Given the description of an element on the screen output the (x, y) to click on. 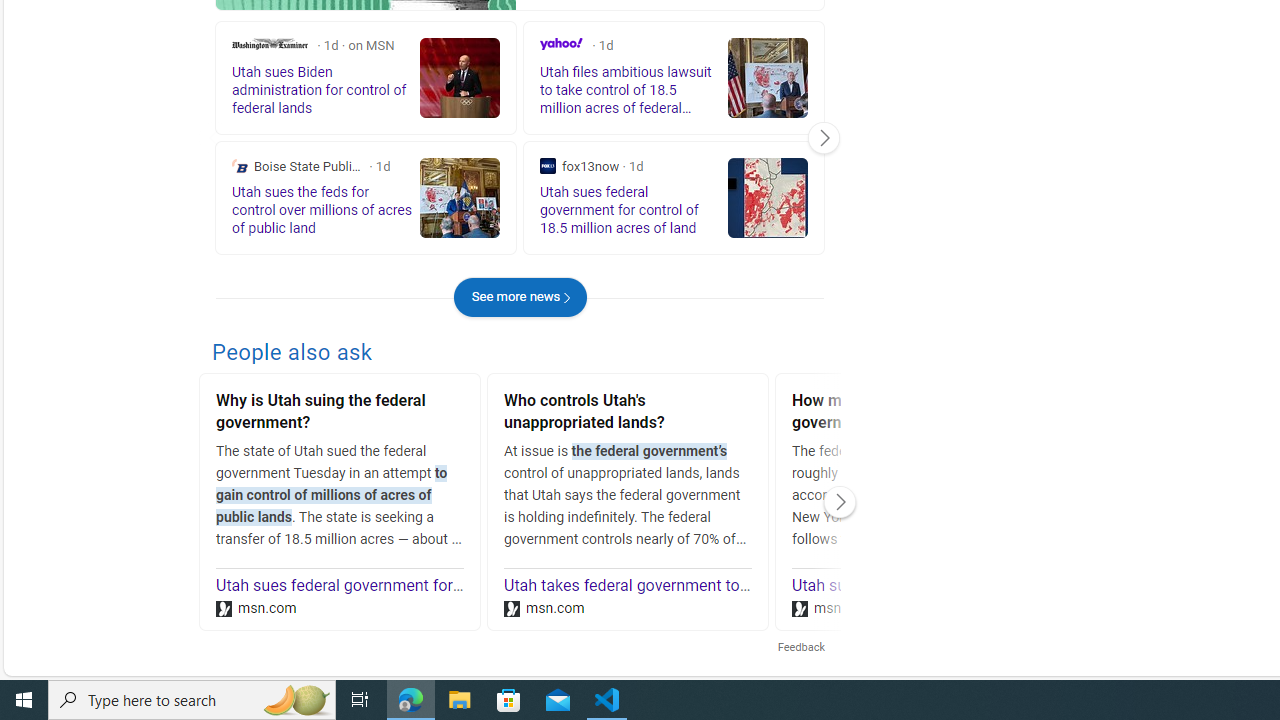
Boise State Public Radio (239, 165)
Utah sues Biden administration for control of federal lands (998, 586)
Who controls Utah's unappropriated lands? (628, 414)
Utah takes federal government to court over control of land (713, 586)
